Given the description of an element on the screen output the (x, y) to click on. 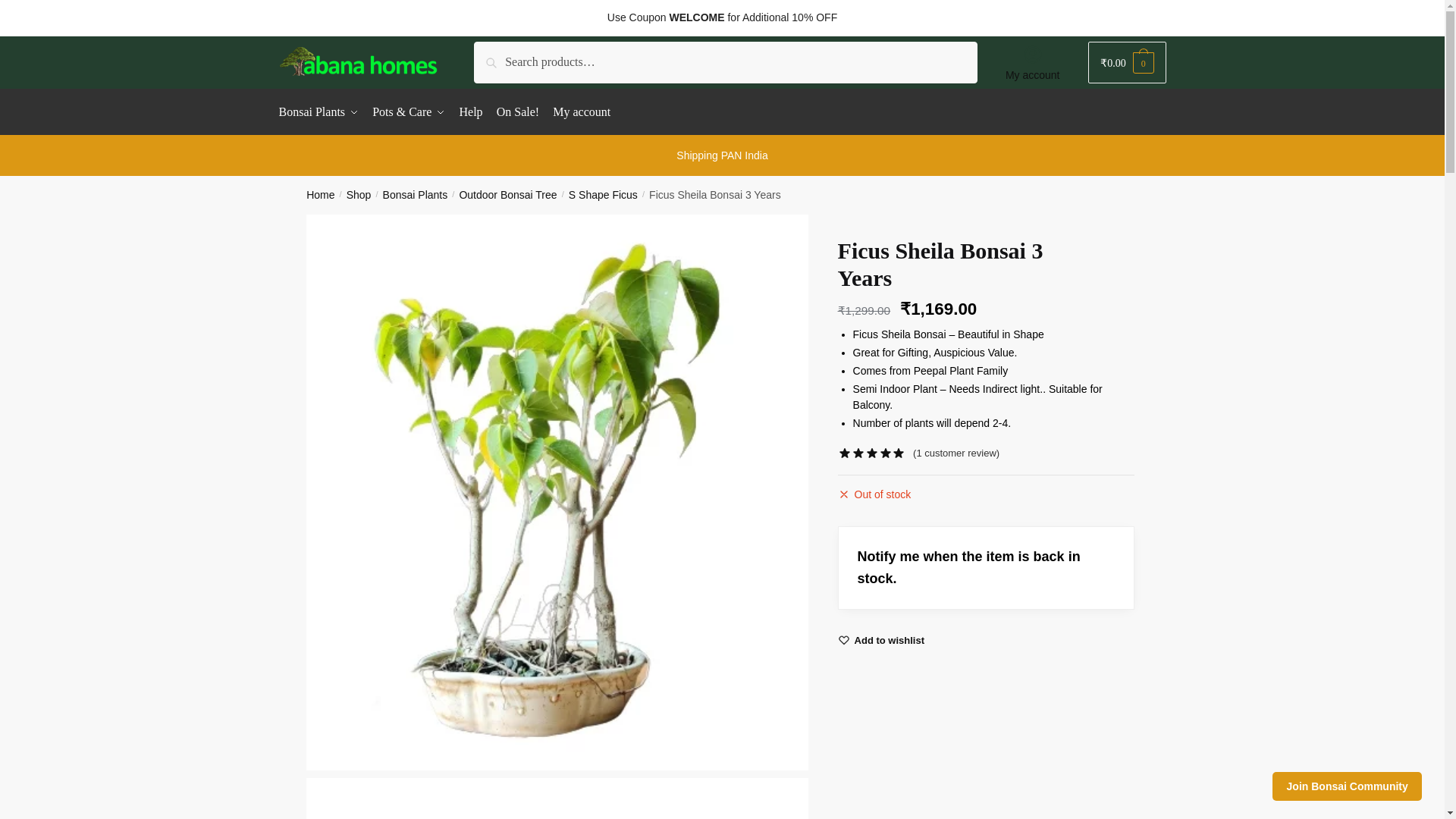
click to zoom-in (556, 798)
Home (319, 194)
Shop (358, 194)
S Shape Ficus (603, 194)
Bonsai Plants (415, 194)
Outdoor Bonsai Tree (507, 194)
View your shopping cart (1126, 62)
Search (495, 52)
Wishlist (889, 640)
My account (581, 112)
On Sale! (517, 112)
My account (1031, 62)
Bonsai Plants (322, 112)
